Given the description of an element on the screen output the (x, y) to click on. 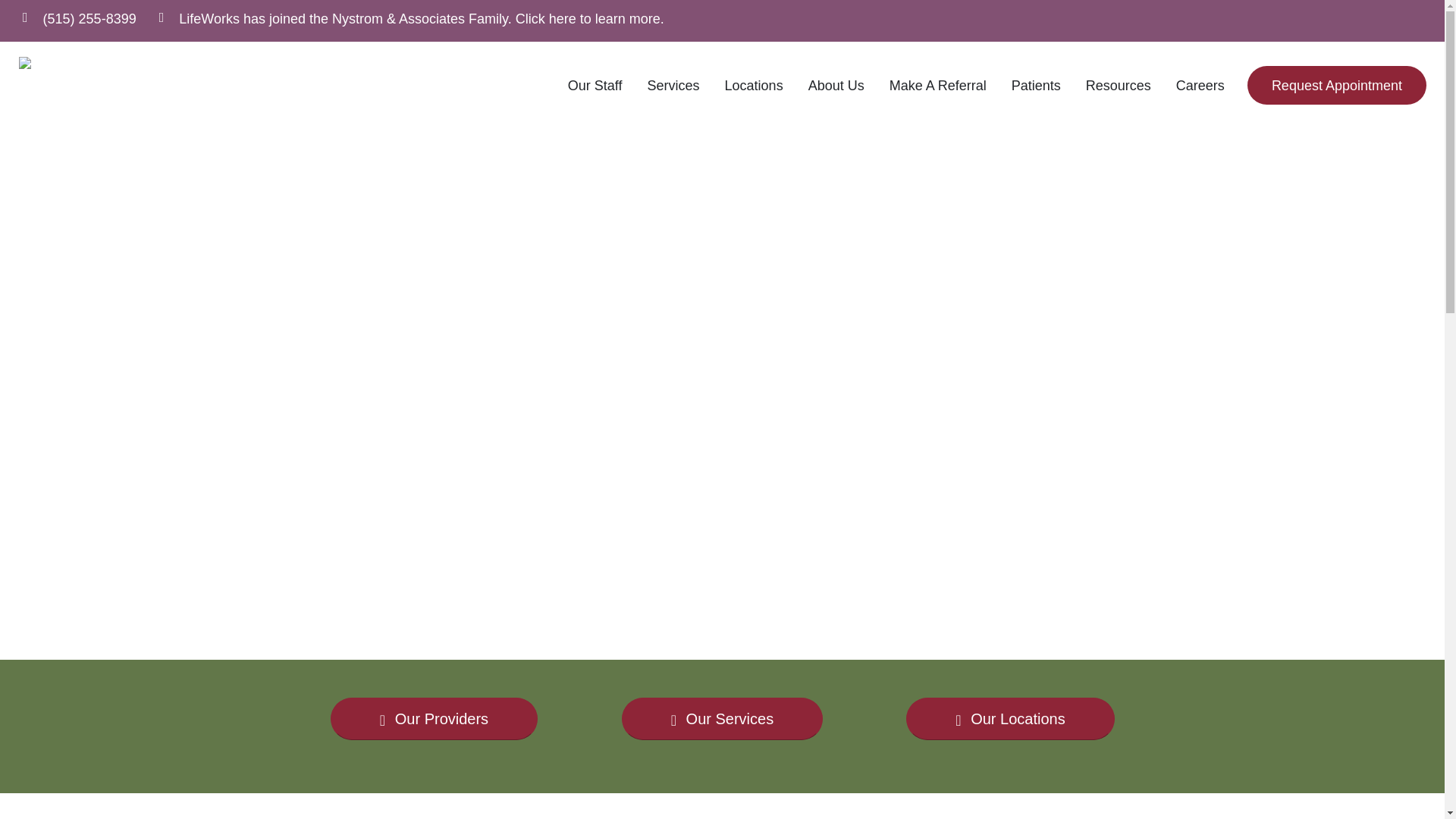
Our Staff (595, 85)
Request Appointment (1336, 85)
About Us (836, 85)
Services (672, 85)
About Nystrom (405, 17)
Patients (1035, 85)
Resources (1118, 85)
Careers (1199, 85)
Locations (753, 85)
Make A Referral (937, 85)
